Given the description of an element on the screen output the (x, y) to click on. 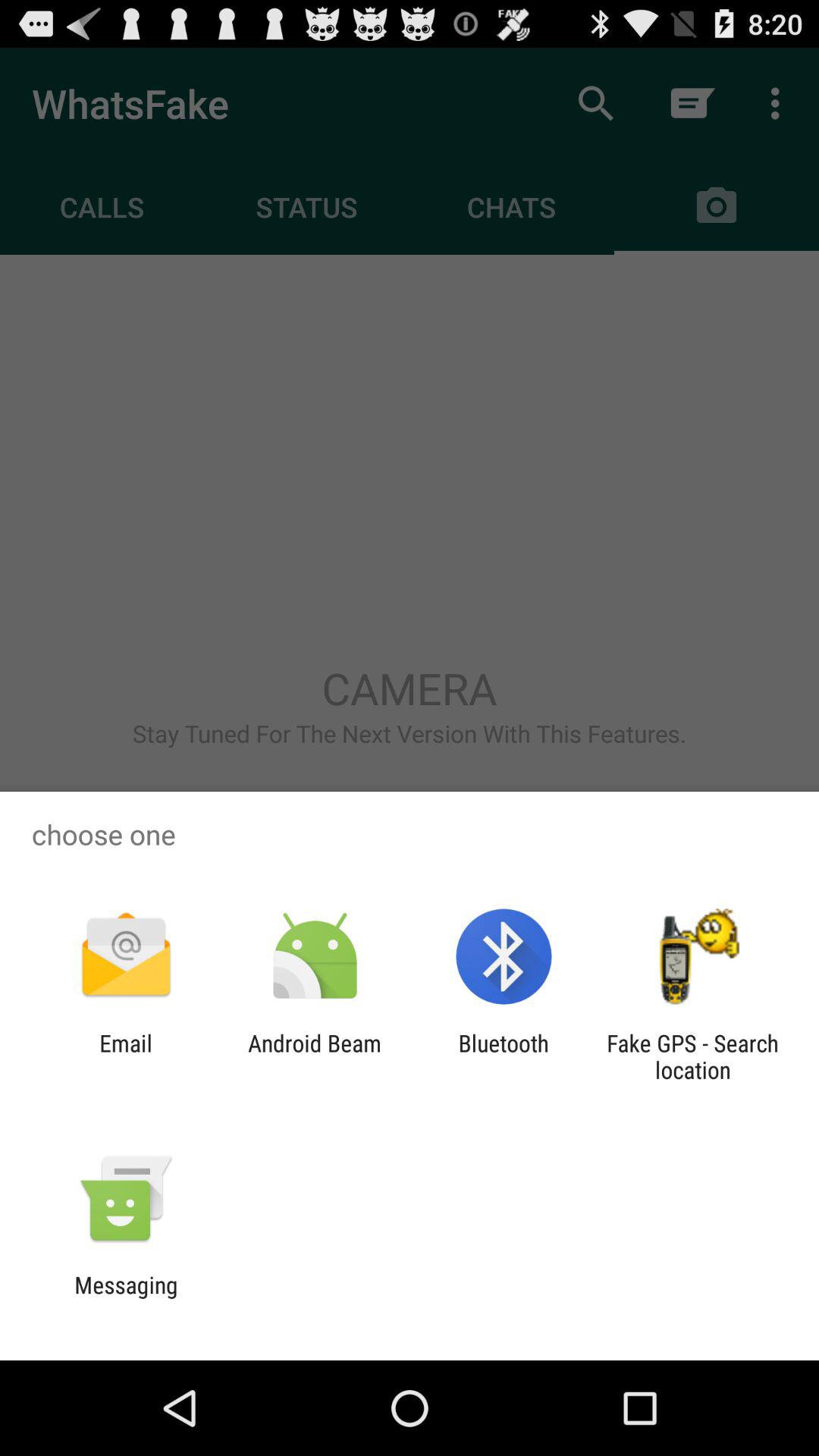
choose the icon next to bluetooth app (314, 1056)
